Given the description of an element on the screen output the (x, y) to click on. 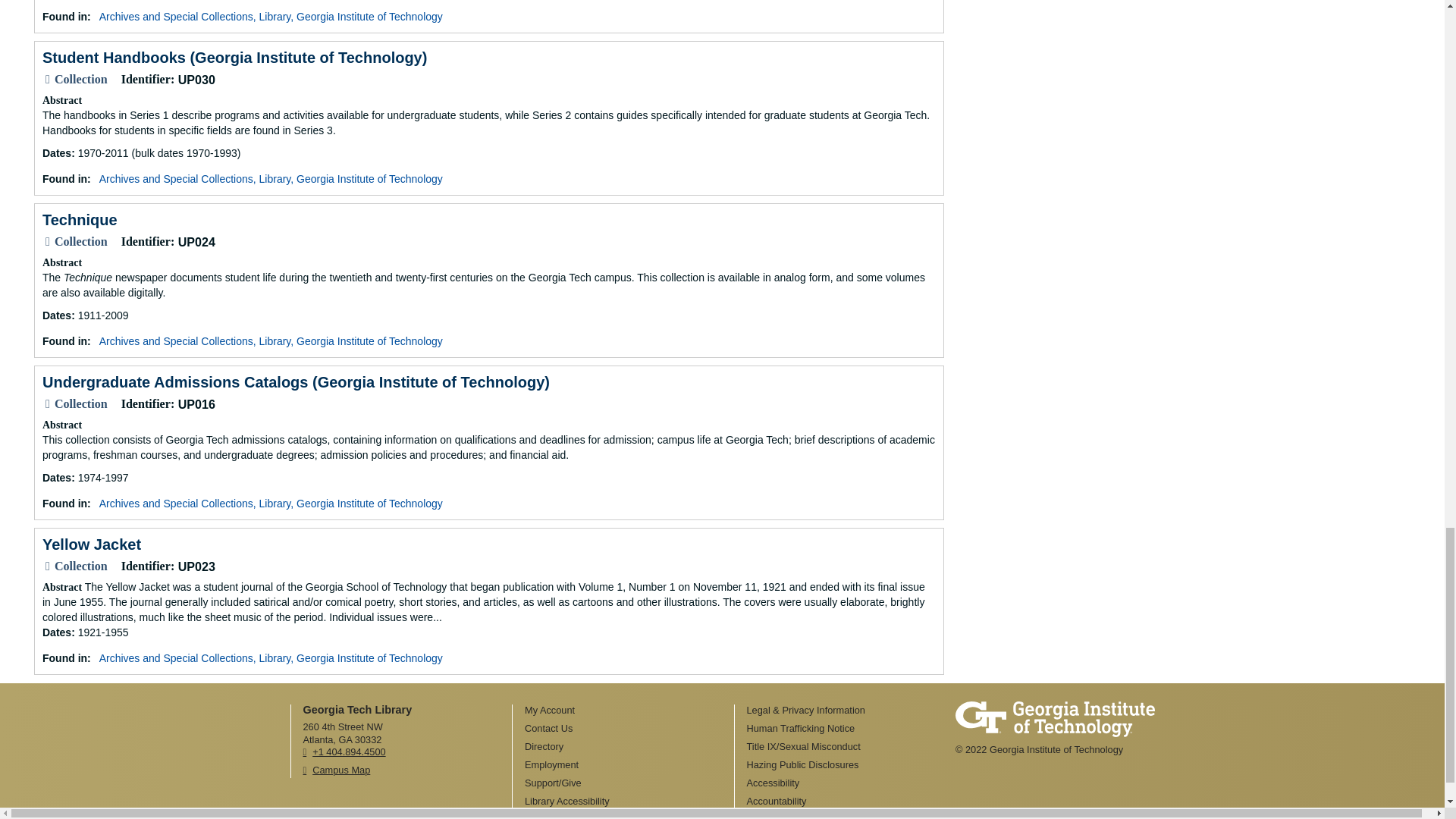
translation missing: en.dates (56, 152)
translation missing: en.dates (56, 477)
Technique (79, 219)
translation missing: en.dates (56, 315)
translation missing: en.dates (56, 632)
